Given the description of an element on the screen output the (x, y) to click on. 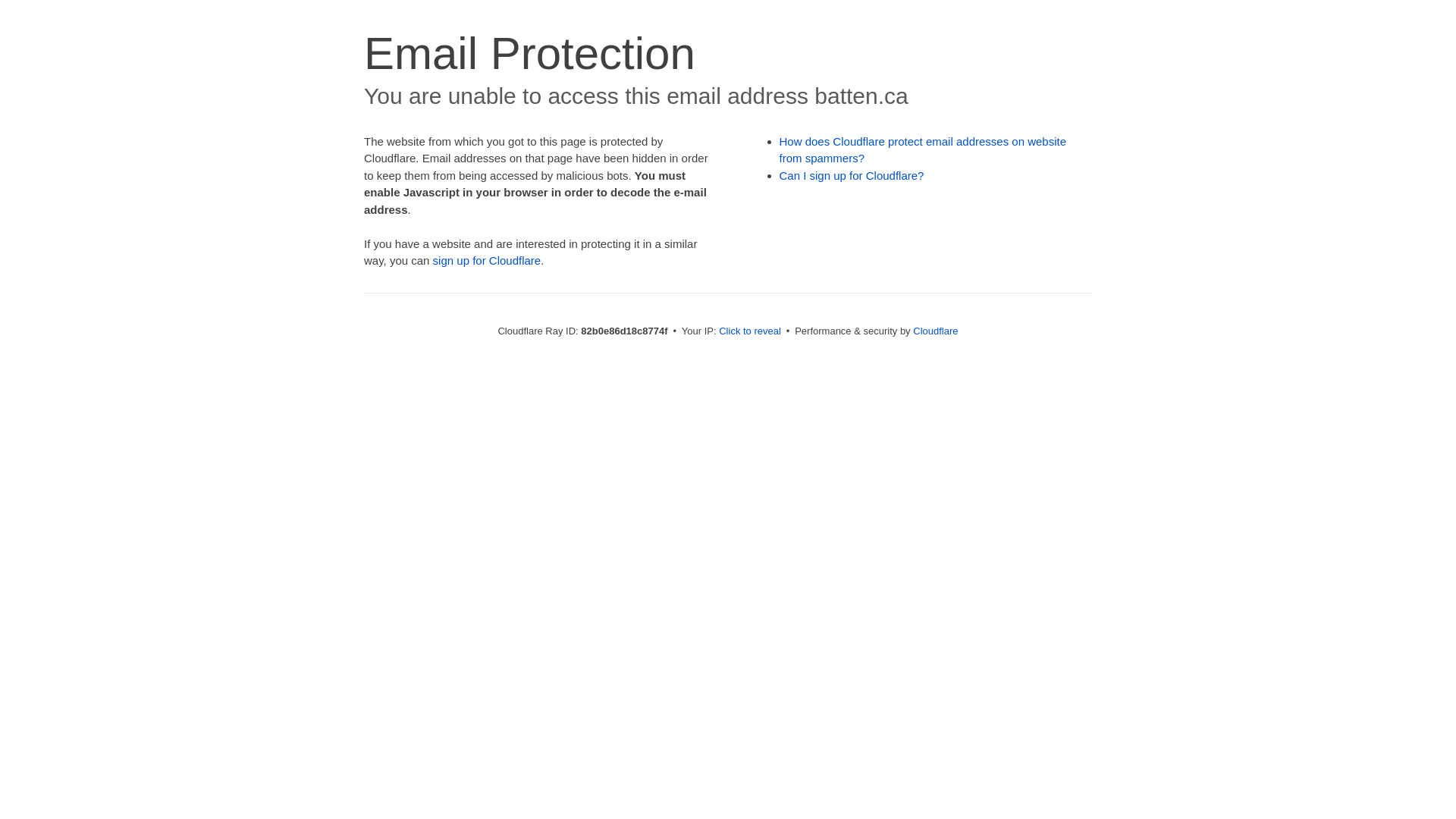
sign up for Cloudflare Element type: text (487, 260)
Click to reveal Element type: text (749, 330)
Can I sign up for Cloudflare? Element type: text (851, 175)
Cloudflare Element type: text (935, 330)
